Given the description of an element on the screen output the (x, y) to click on. 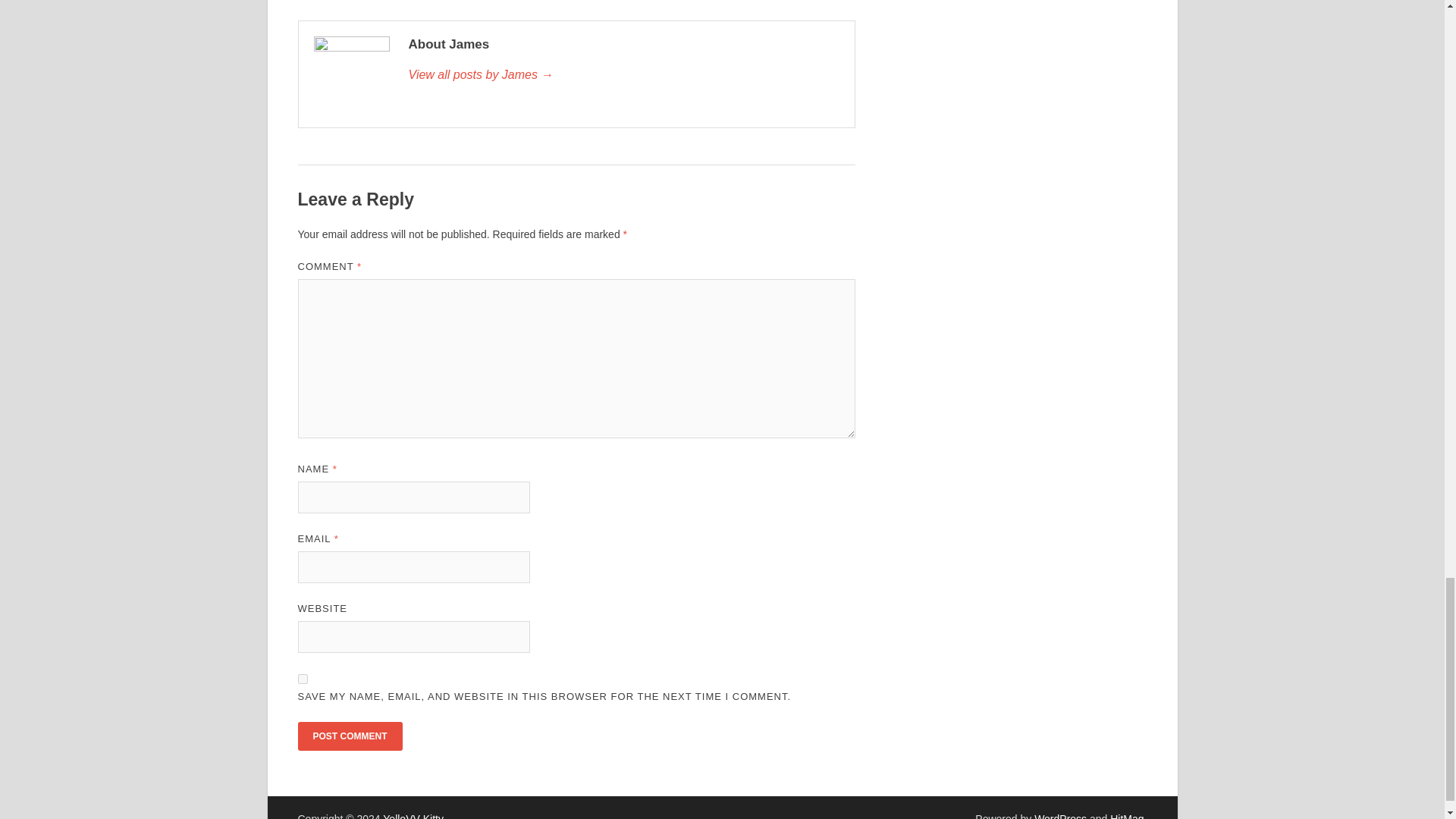
Post Comment (349, 736)
yes (302, 678)
James (622, 75)
